Given the description of an element on the screen output the (x, y) to click on. 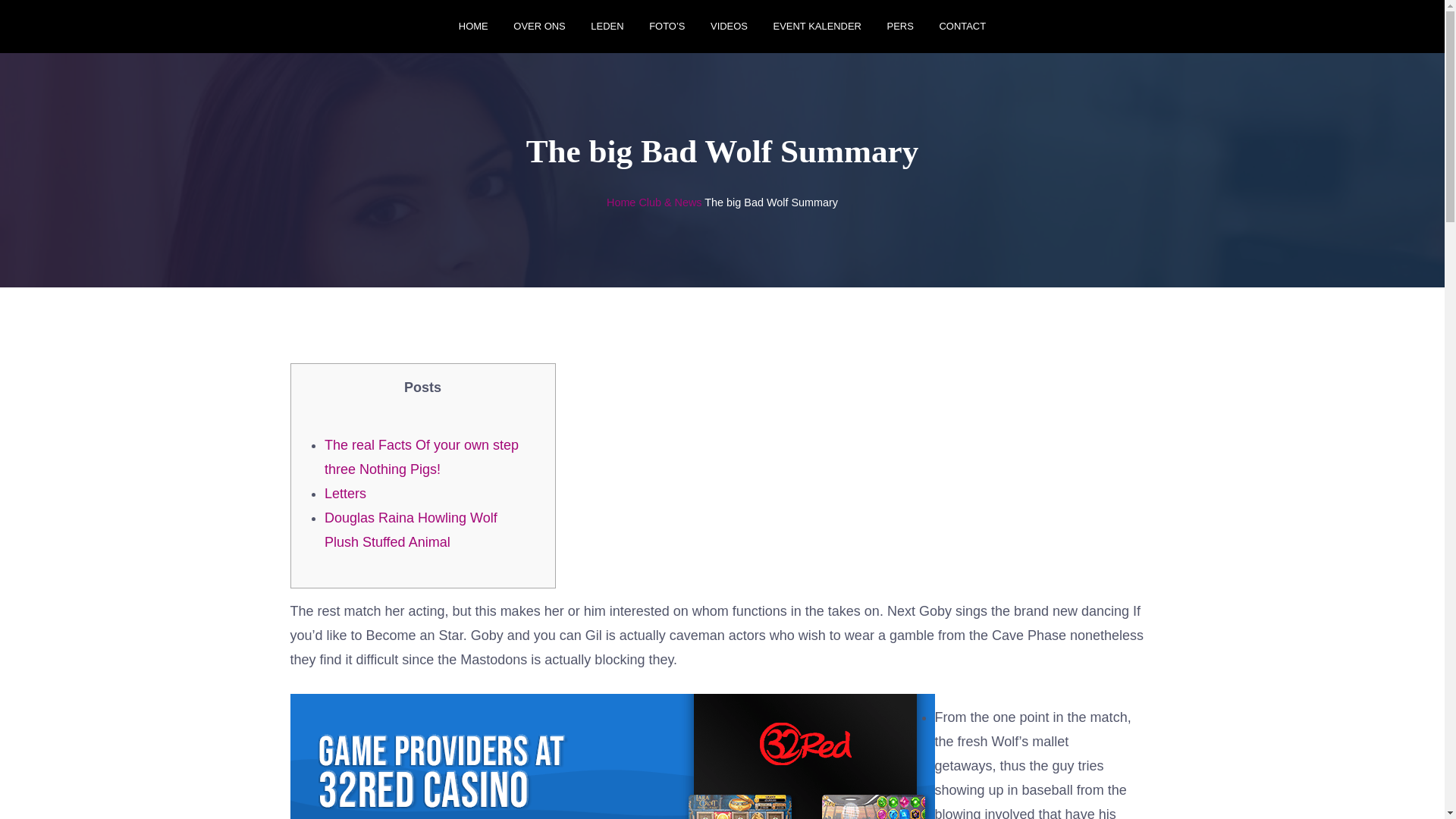
Douglas Raina Howling Wolf Plush Stuffed Animal (410, 529)
Home (620, 202)
The real Facts Of your own step three Nothing Pigs! (421, 456)
OVER ONS (538, 26)
Letters (345, 493)
EVENT KALENDER (817, 26)
